Given the description of an element on the screen output the (x, y) to click on. 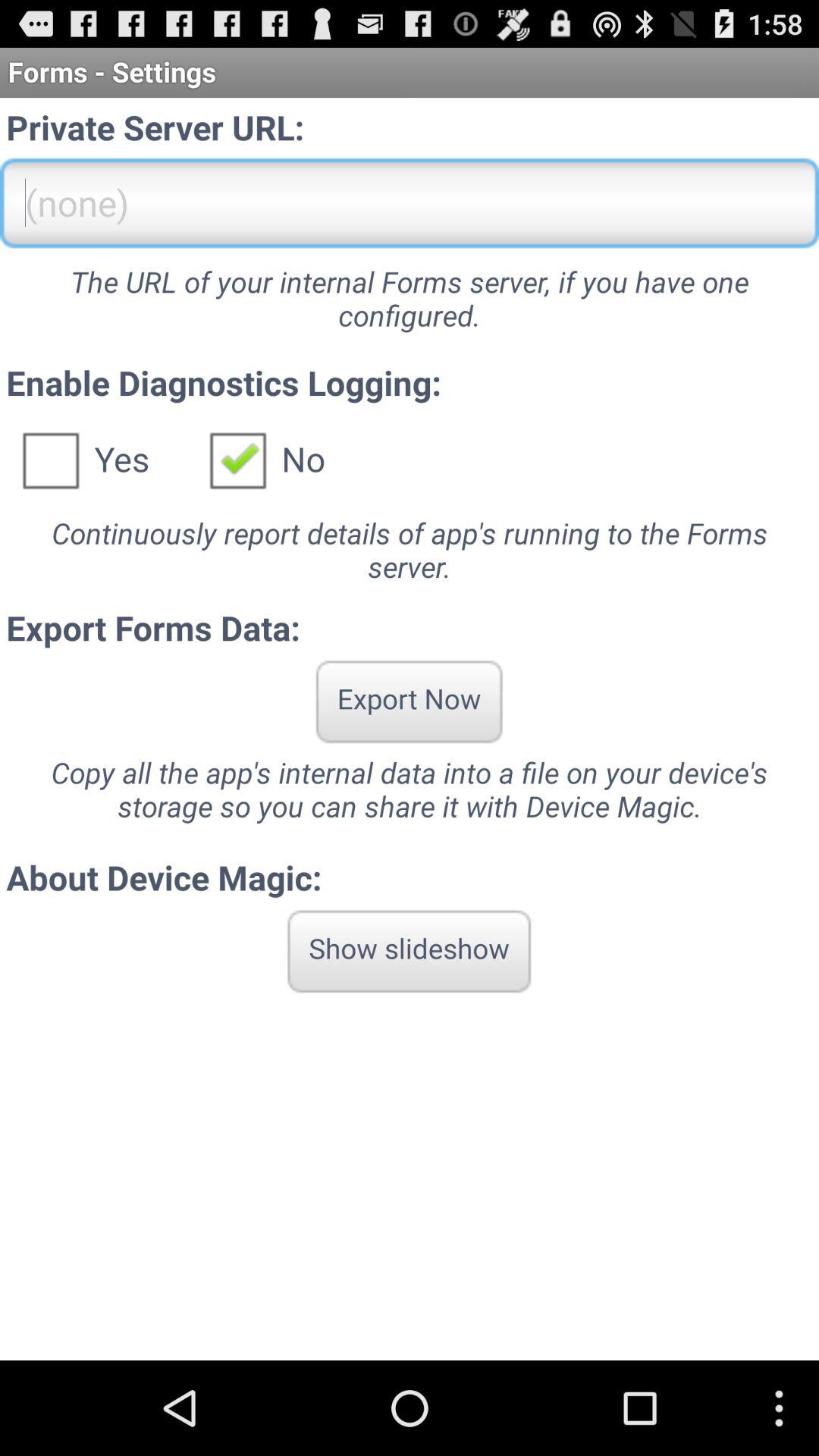
launch app below export forms data: icon (409, 701)
